Given the description of an element on the screen output the (x, y) to click on. 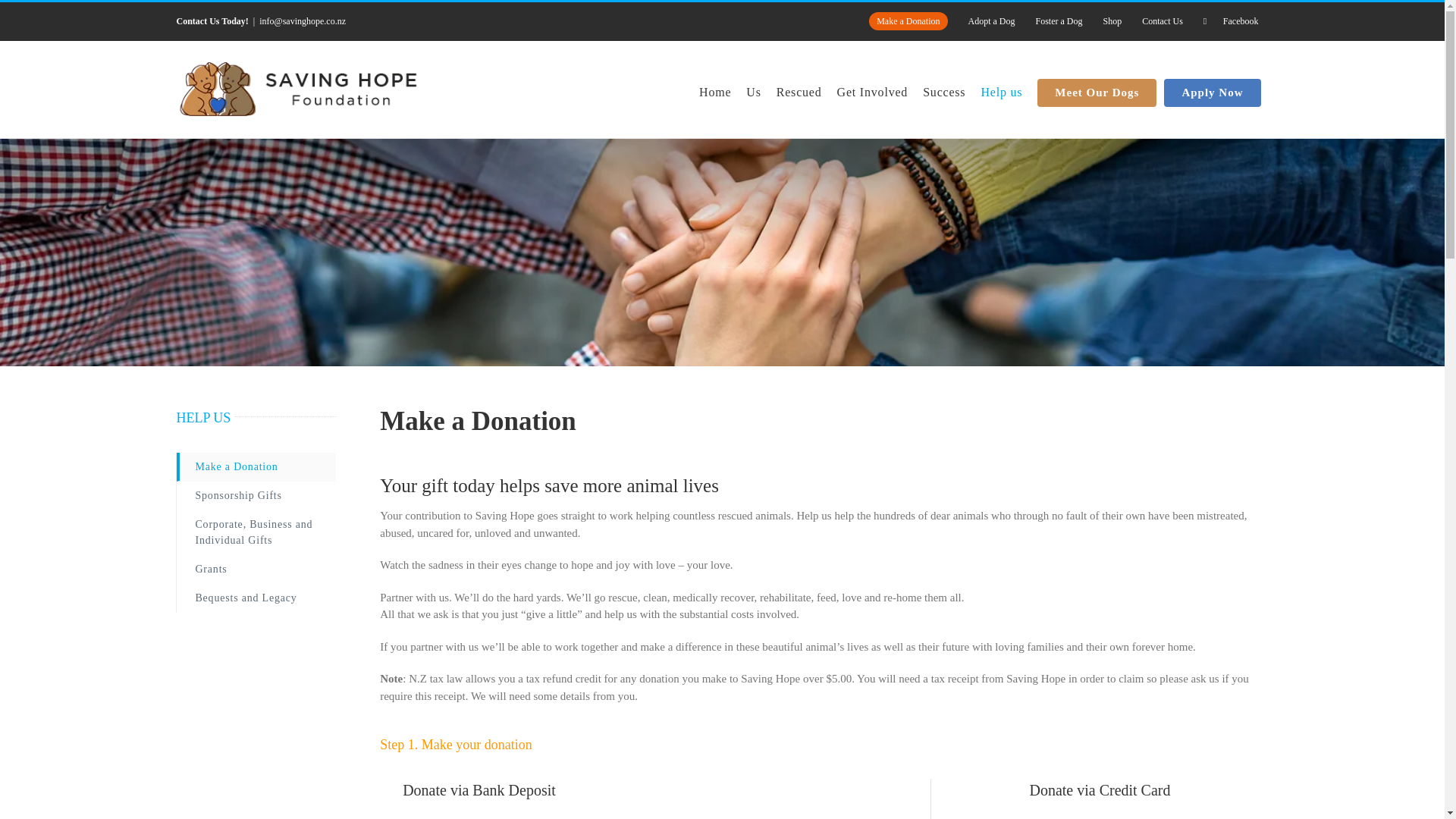
Contact Us (1162, 21)
Adopt a Dog (991, 21)
Facebook (1230, 21)
Make a Donation (907, 21)
Foster a Dog (1058, 21)
Shop (1112, 21)
